Given the description of an element on the screen output the (x, y) to click on. 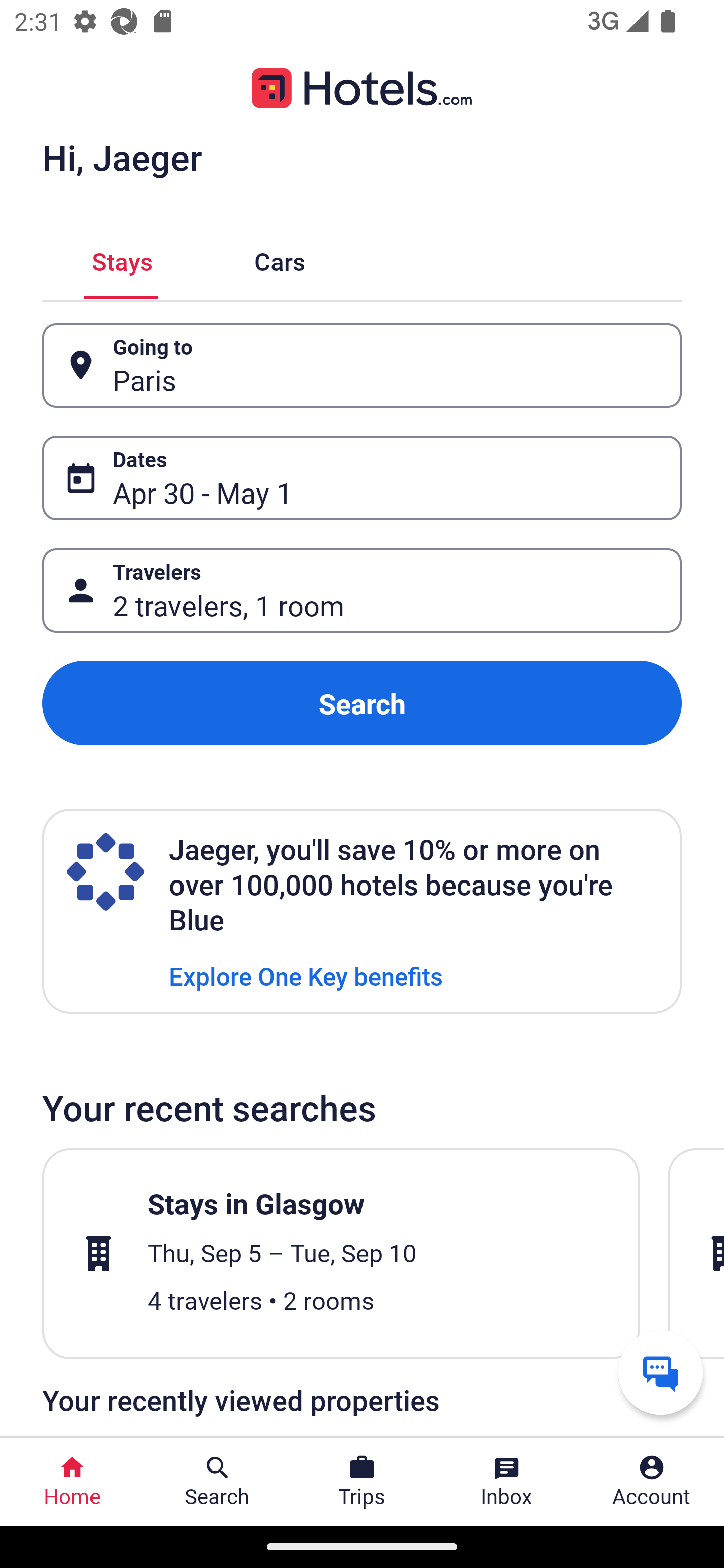
Hi, Jaeger (121, 156)
Cars (279, 259)
Going to Button Paris (361, 365)
Dates Button Apr 30 - May 1 (361, 477)
Travelers Button 2 travelers, 1 room (361, 590)
Search (361, 702)
Get help from a virtual agent (660, 1371)
Search Search Button (216, 1481)
Trips Trips Button (361, 1481)
Inbox Inbox Button (506, 1481)
Account Profile. Button (651, 1481)
